Given the description of an element on the screen output the (x, y) to click on. 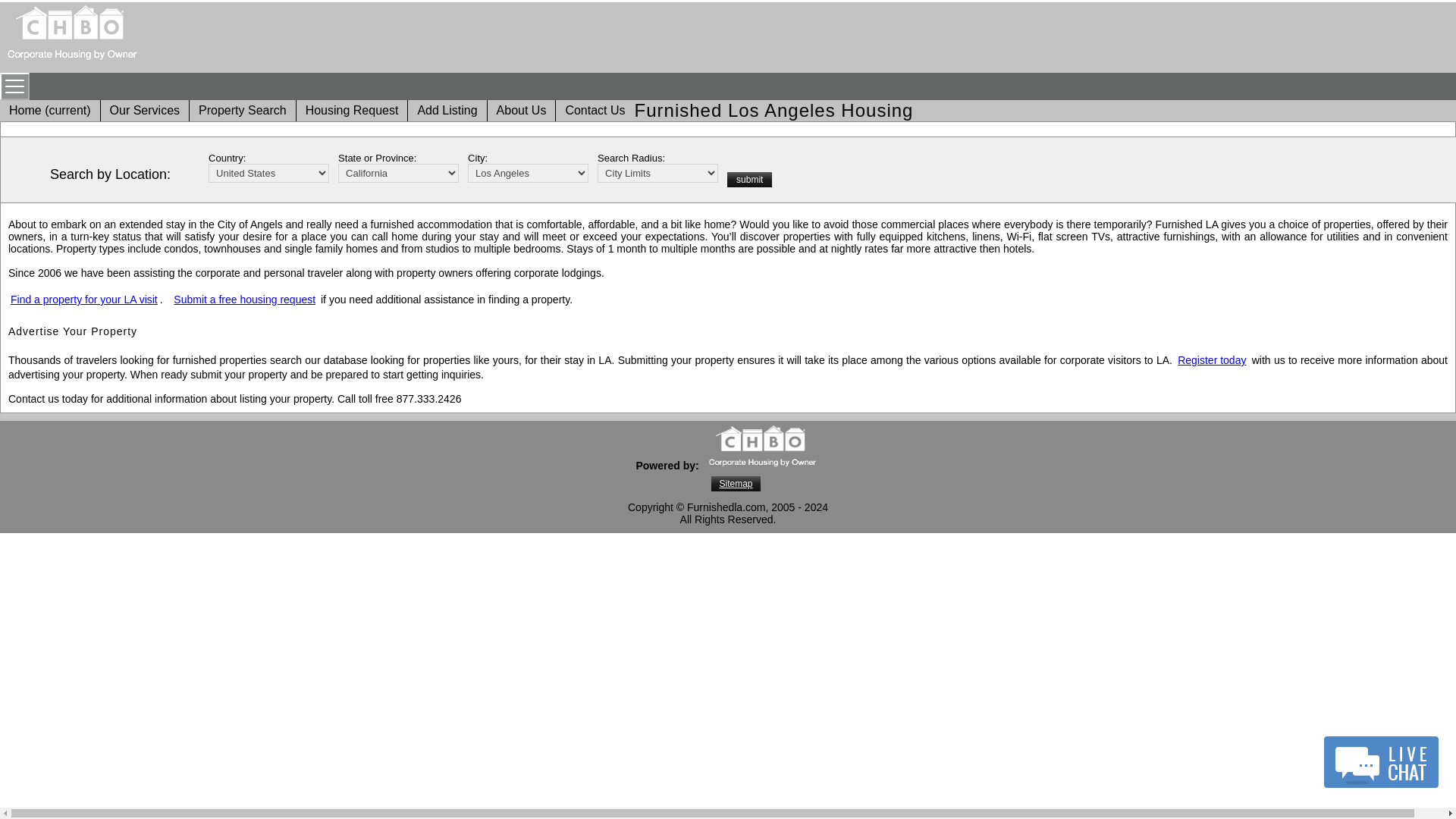
Housing Request (351, 110)
Property Search (242, 110)
Add Listing (446, 110)
Sitemap (735, 483)
About Us (521, 110)
Register today (1211, 359)
submit (748, 179)
Contact Us (594, 110)
Submit a free housing request (244, 299)
submit (748, 179)
Our Services (144, 110)
Find a property for your LA visit (83, 299)
